Given the description of an element on the screen output the (x, y) to click on. 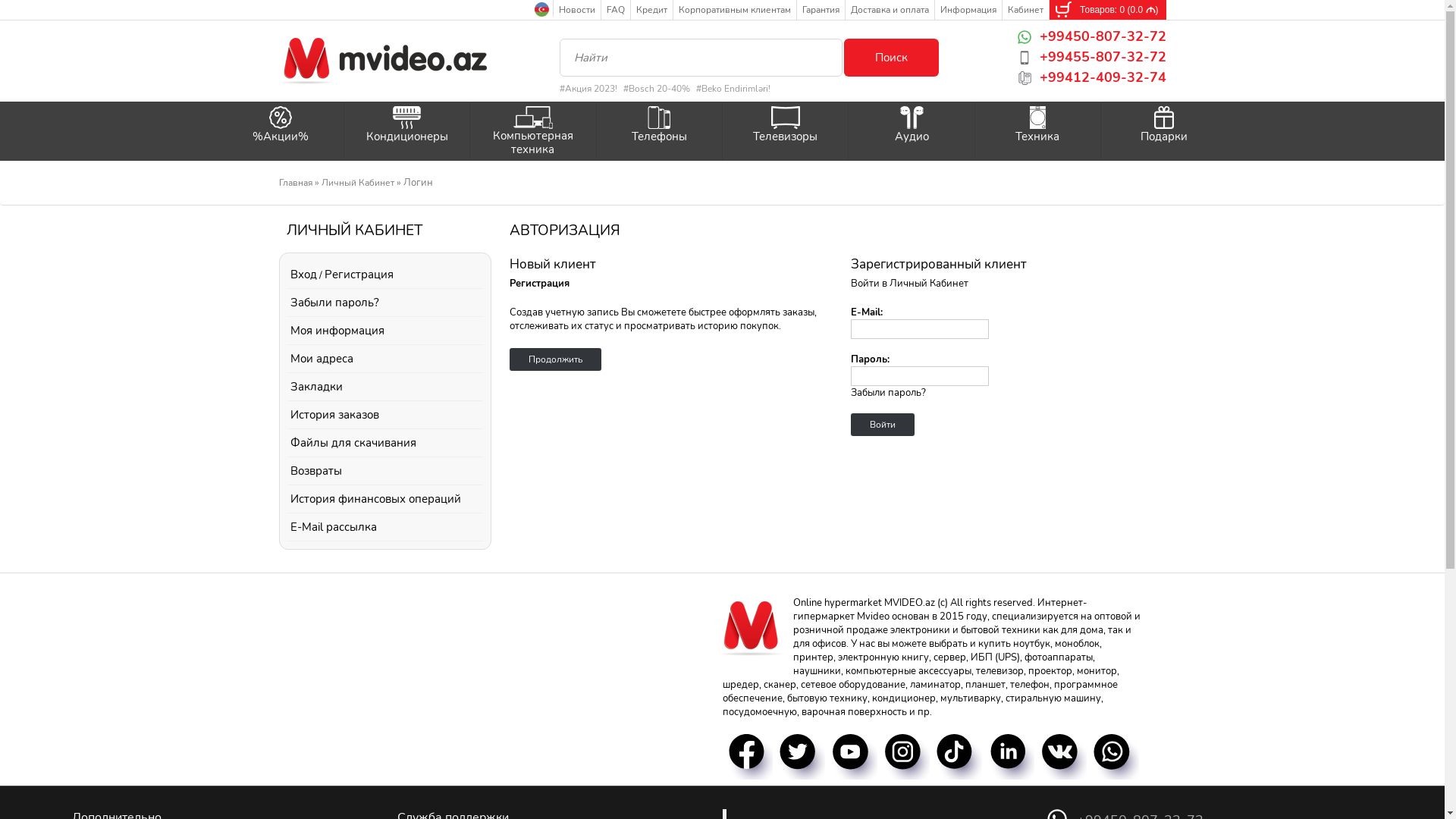
azerbaijani Element type: hover (541, 9)
FAQ Element type: text (615, 11)
#Bosch 20-40% Element type: text (657, 88)
+99450-807-32-72 Element type: text (1091, 35)
+99412-409-32-74 Element type: text (1091, 76)
+99455-807-32-72 Element type: text (1091, 56)
